Given the description of an element on the screen output the (x, y) to click on. 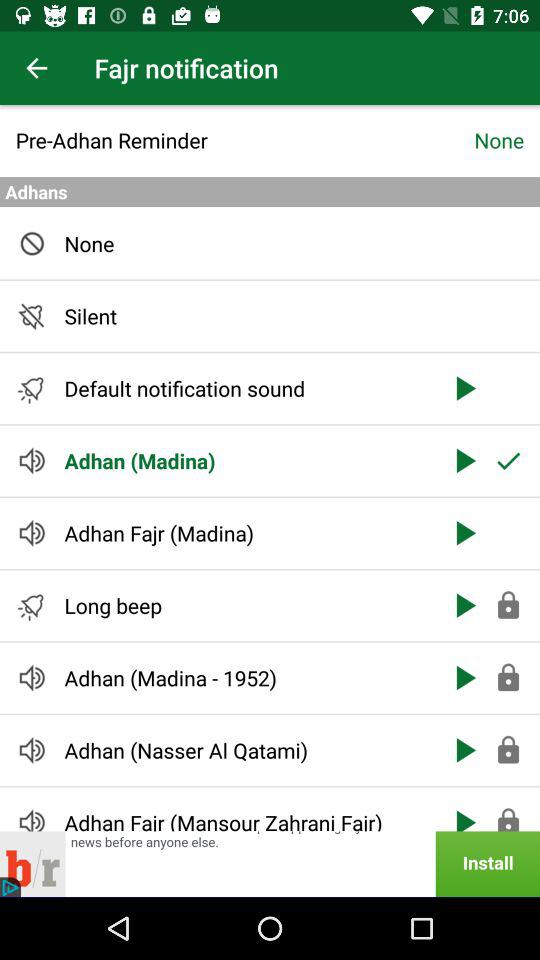
tap adhan nasser al icon (245, 750)
